Given the description of an element on the screen output the (x, y) to click on. 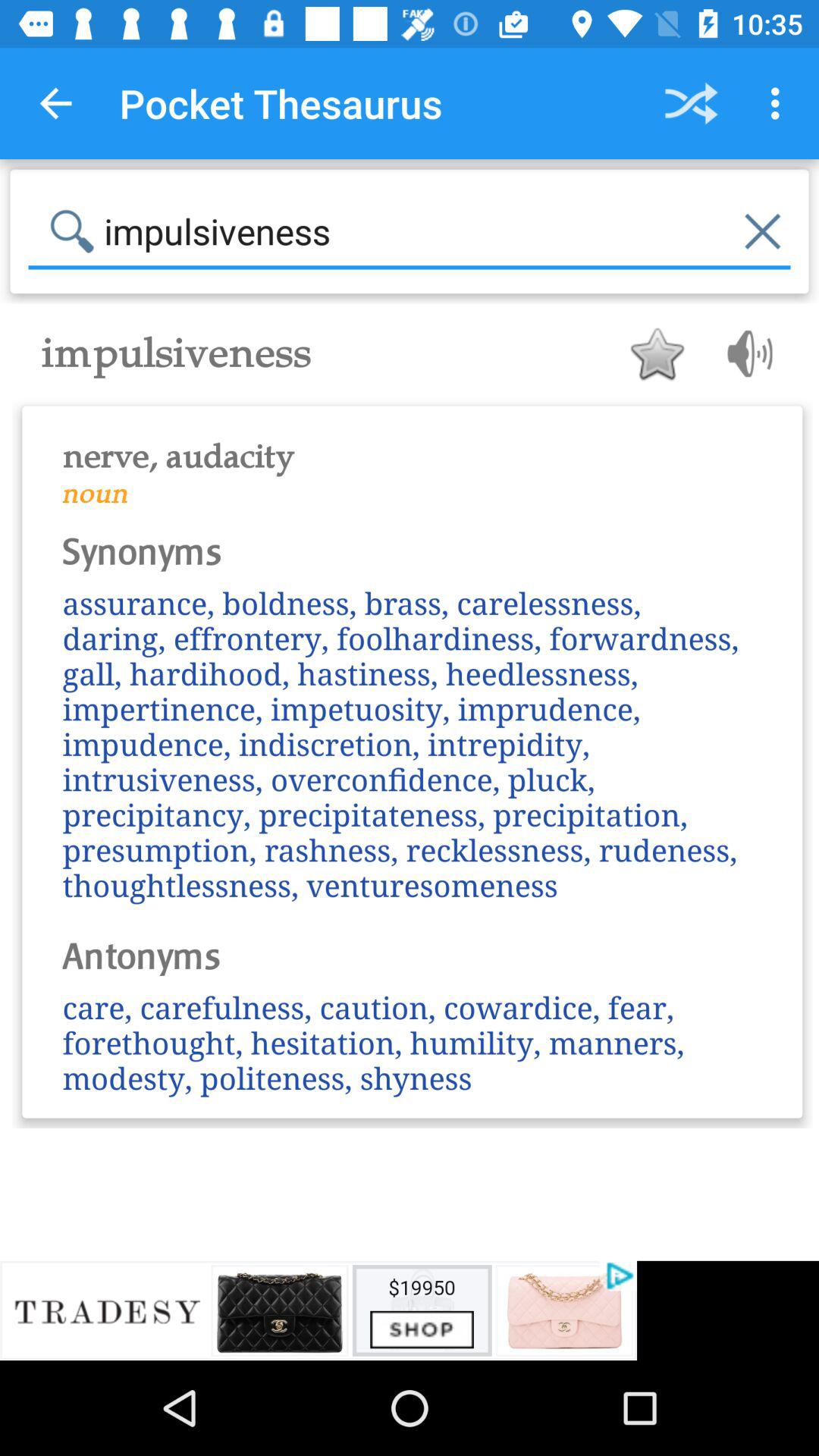
favorite icon (656, 353)
